Given the description of an element on the screen output the (x, y) to click on. 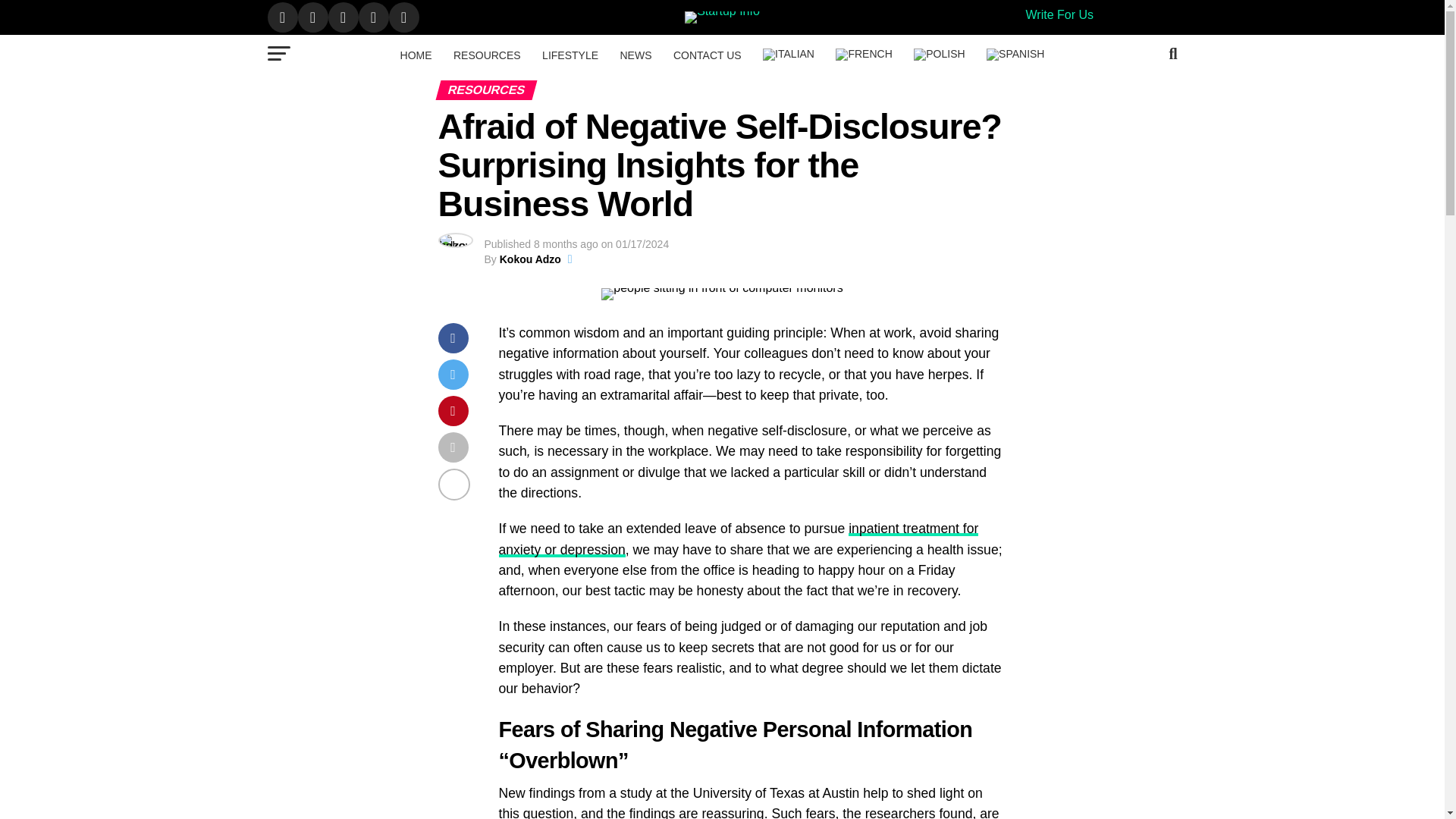
NEWS (635, 55)
Write For Us (1059, 14)
HOME (416, 55)
LIFESTYLE (569, 55)
RESOURCES (486, 55)
